Given the description of an element on the screen output the (x, y) to click on. 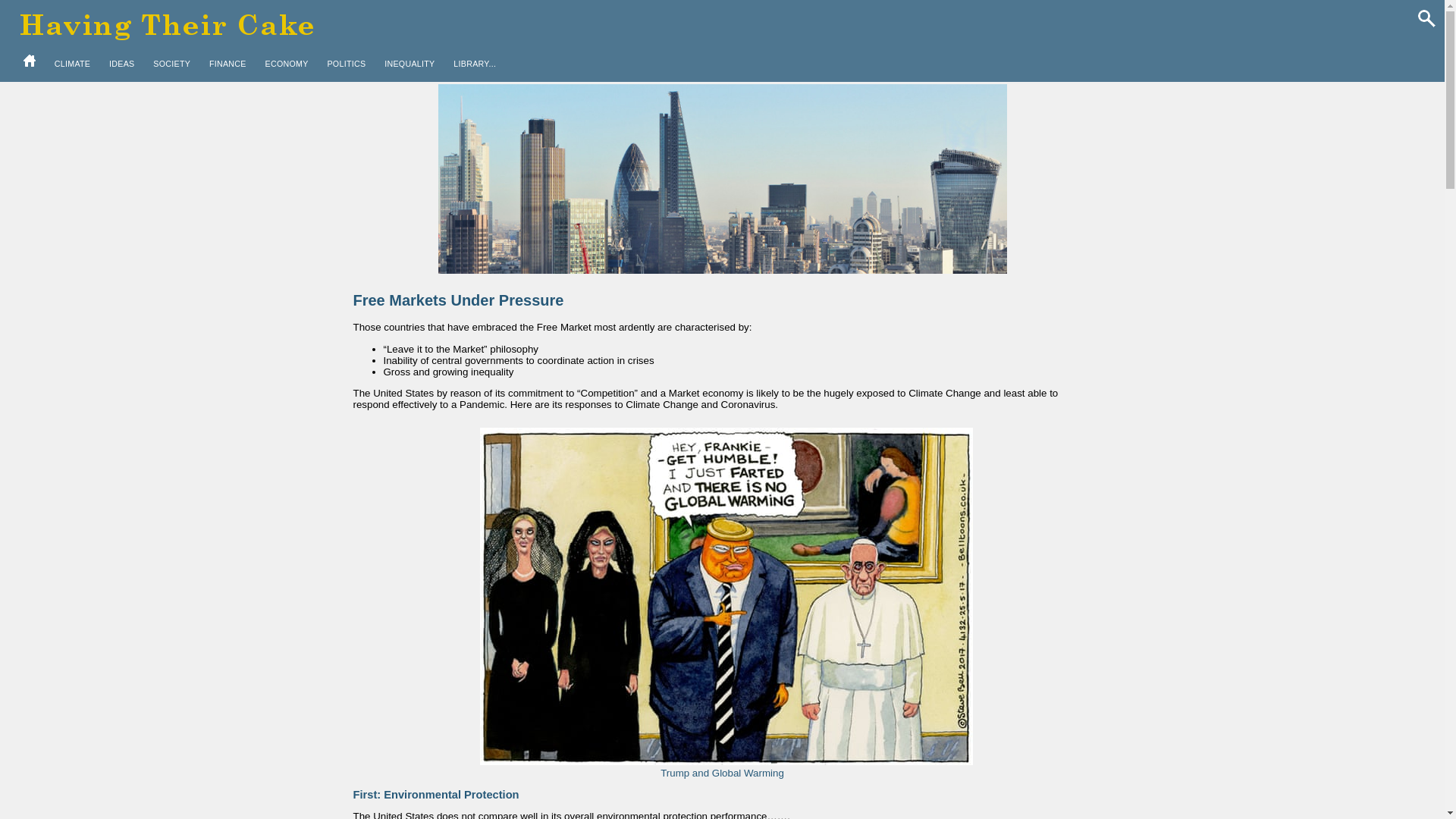
ECONOMY (286, 63)
LIBRARY... (474, 63)
SOCIETY (171, 63)
INEQUALITY (409, 63)
FINANCE (227, 63)
CLIMATE (72, 63)
Home (28, 60)
IDEAS (121, 63)
POLITICS (345, 63)
